Given the description of an element on the screen output the (x, y) to click on. 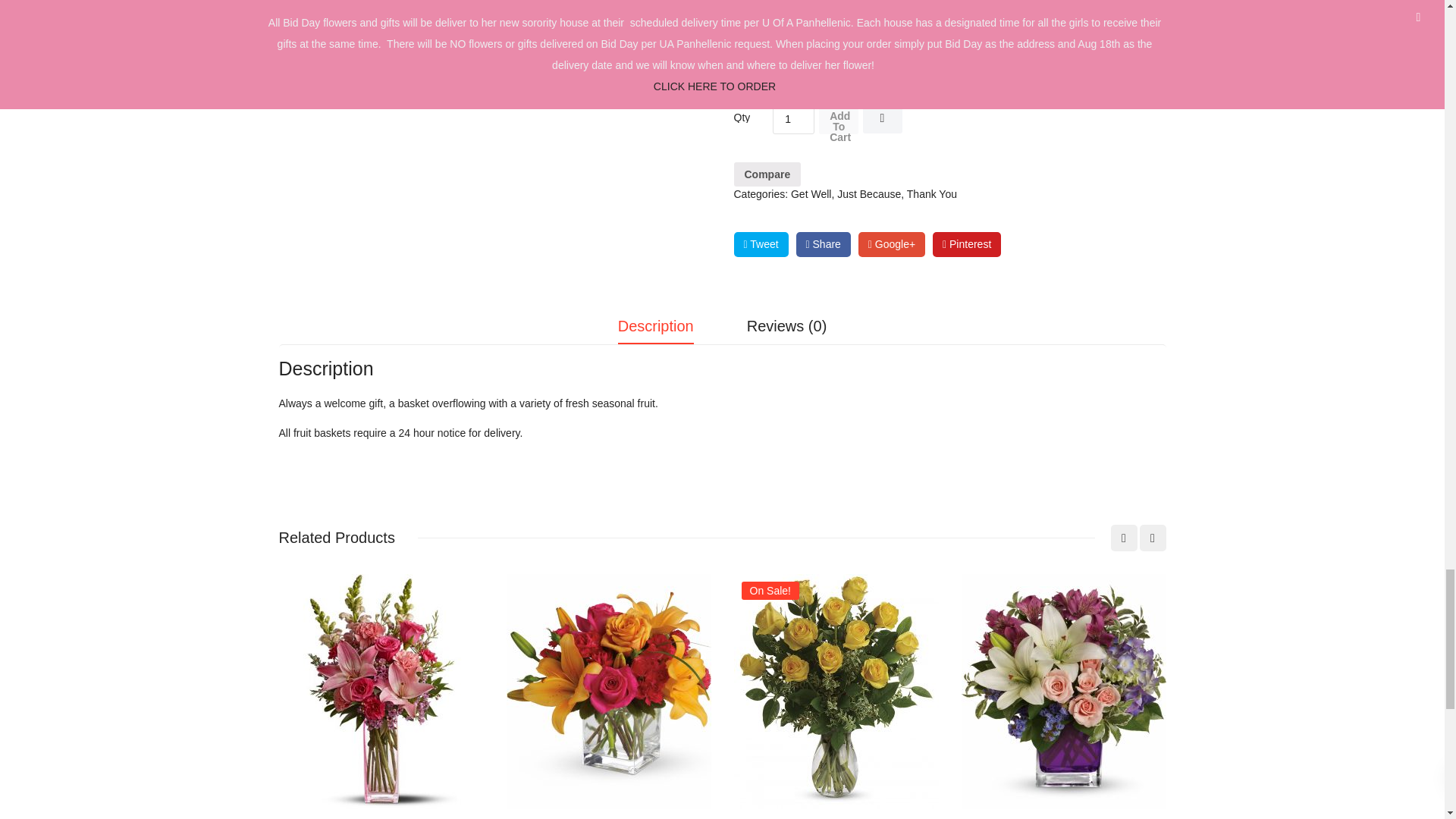
1 (793, 119)
Compare (767, 173)
Add To Cart (838, 119)
